Given the description of an element on the screen output the (x, y) to click on. 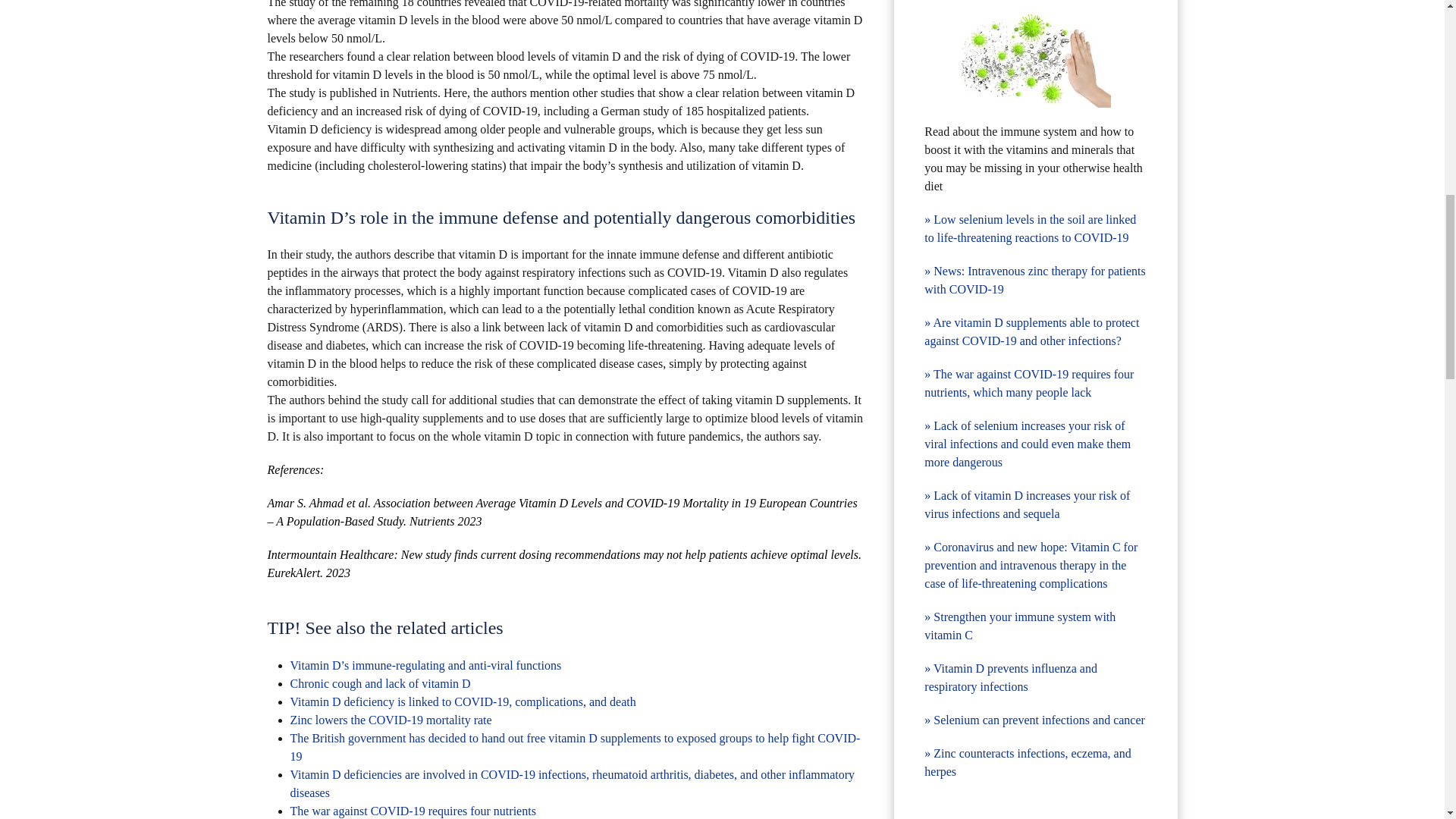
BOOST YOUR IMMUNE DEFENSE (1034, 56)
